Given the description of an element on the screen output the (x, y) to click on. 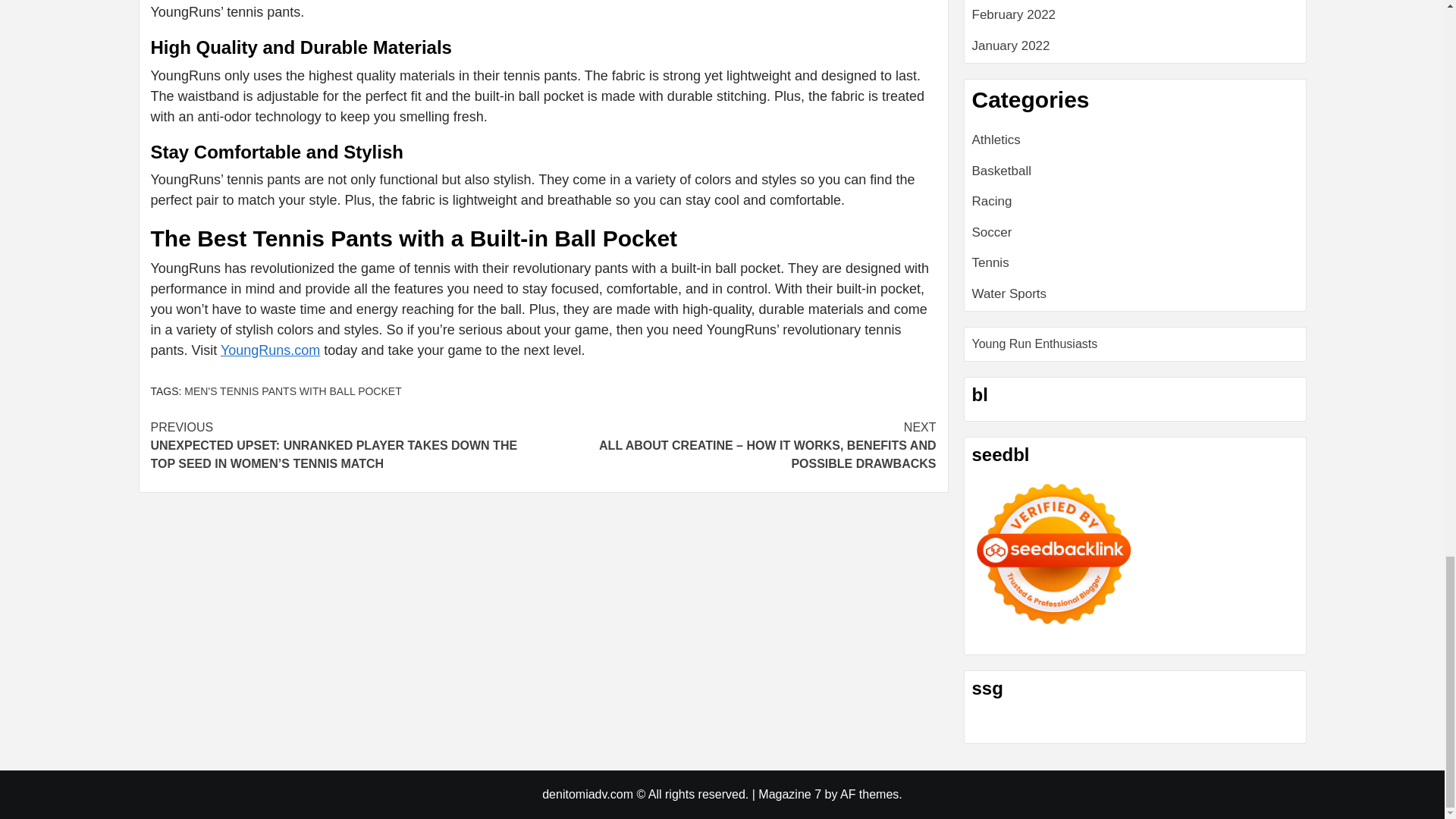
YoungRuns.com (270, 350)
Seedbacklink (1053, 553)
MEN'S TENNIS PANTS WITH BALL POCKET (292, 390)
